Given the description of an element on the screen output the (x, y) to click on. 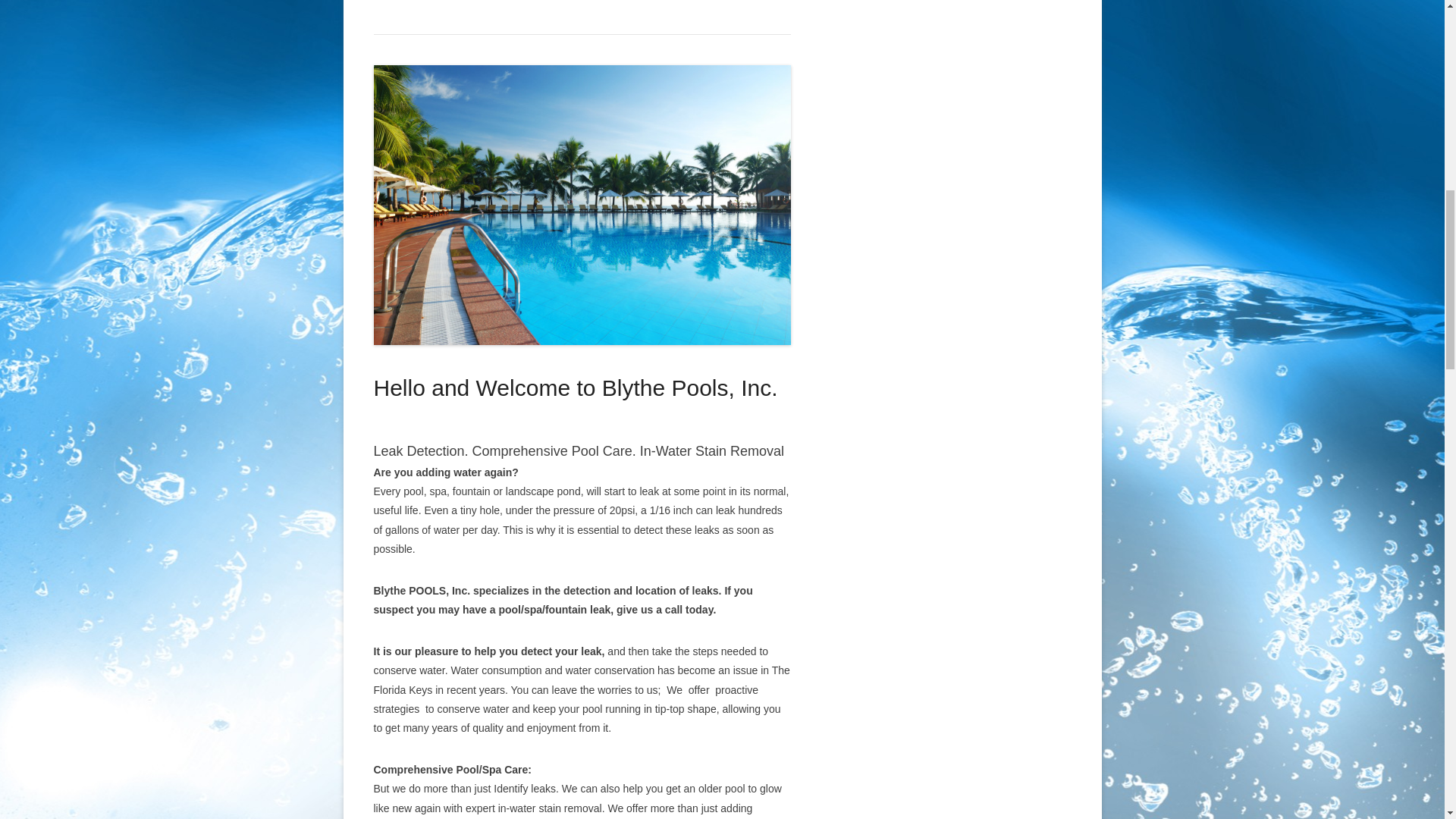
Permalink to Hello and Welcome to Blythe Pools, Inc. (581, 204)
Hello and Welcome to Blythe Pools, Inc. (574, 387)
